Given the description of an element on the screen output the (x, y) to click on. 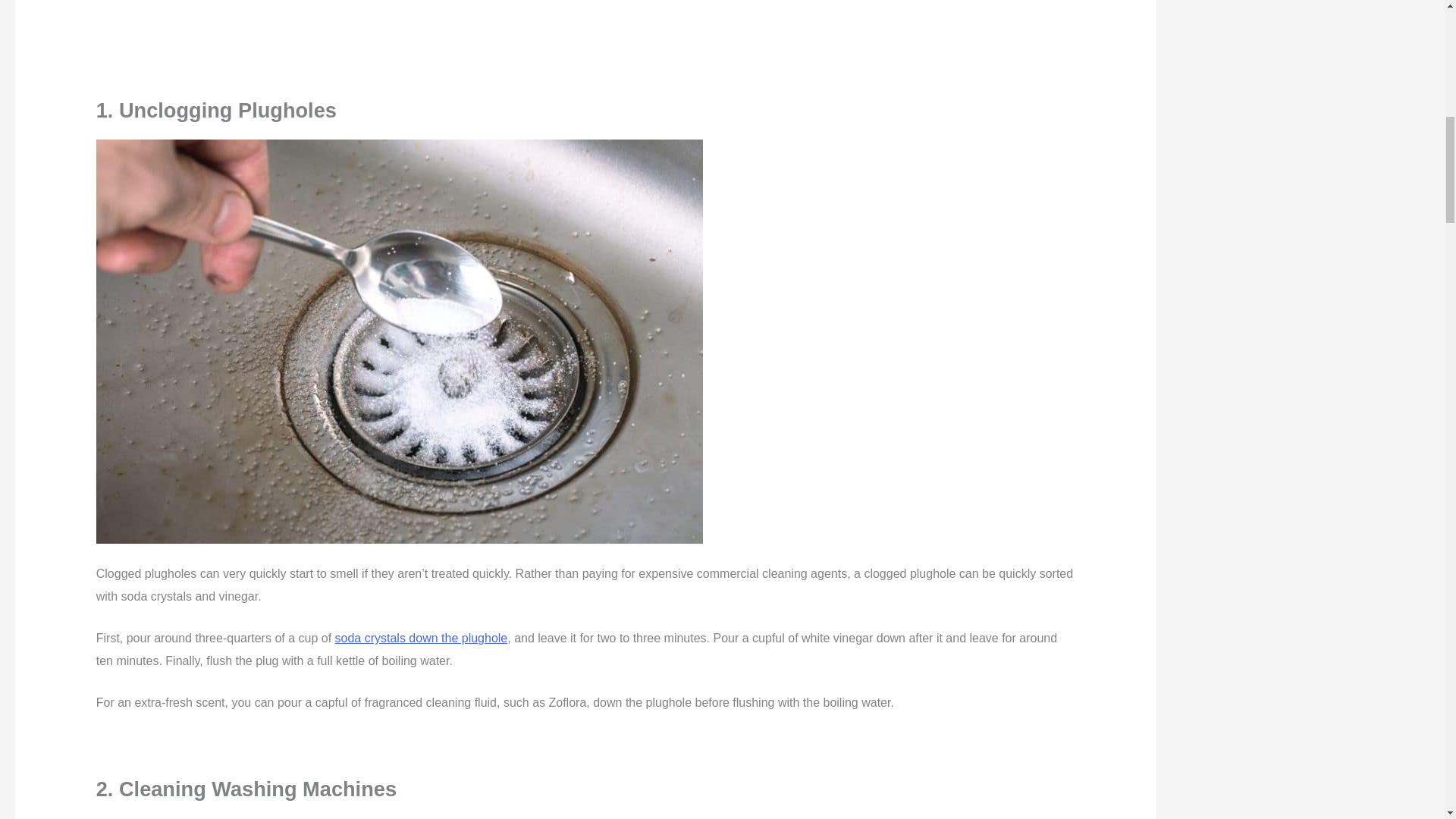
soda crystals down the plughole (421, 637)
